Given the description of an element on the screen output the (x, y) to click on. 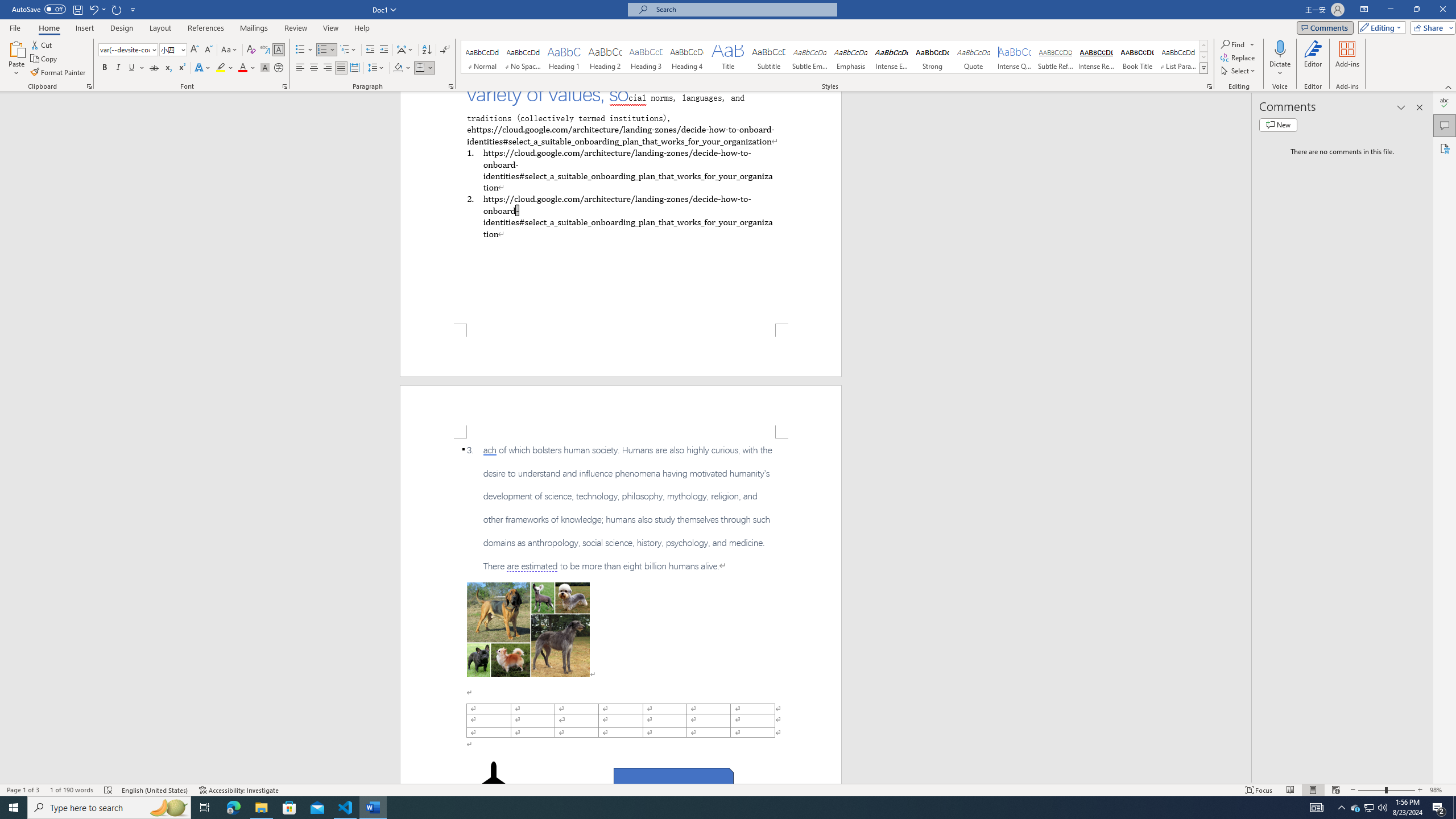
Share (1430, 27)
Strikethrough (154, 67)
Distributed (354, 67)
Class: MsoCommandBar (728, 789)
Font... (285, 85)
Rectangle: Diagonal Corners Snipped 2 (672, 781)
Close (1442, 9)
Accessibility (1444, 147)
Page 1 content (620, 207)
Design (122, 28)
AutomationID: QuickStylesGallery (834, 56)
Shading (402, 67)
Styles (1203, 67)
Layout (160, 28)
